Given the description of an element on the screen output the (x, y) to click on. 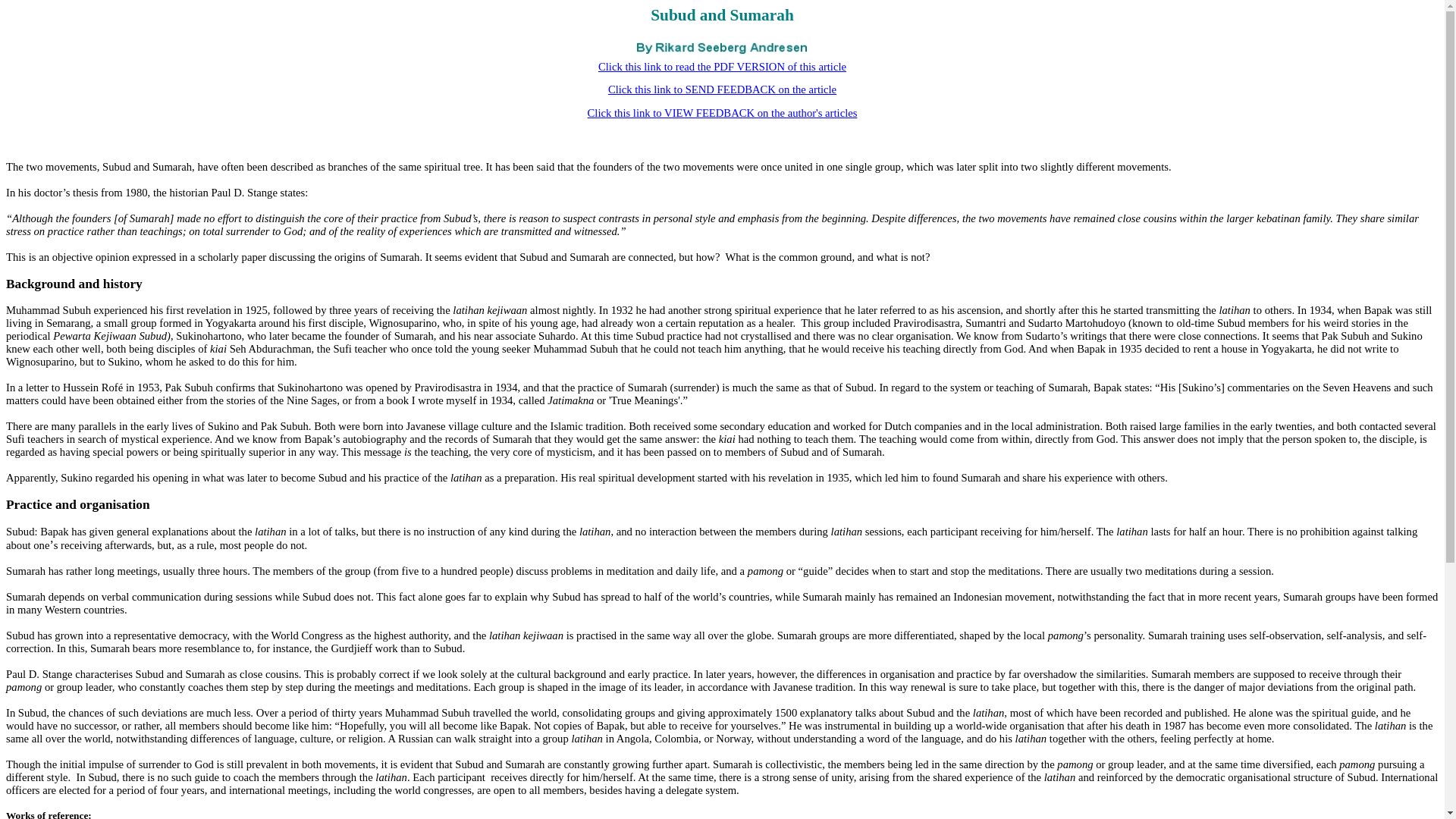
Click this link to VIEW FEEDBACK on the author's articles (722, 112)
Click this link to read the PDF VERSION of this article (721, 66)
Click this link to SEND FEEDBACK on the article (721, 89)
